Given the description of an element on the screen output the (x, y) to click on. 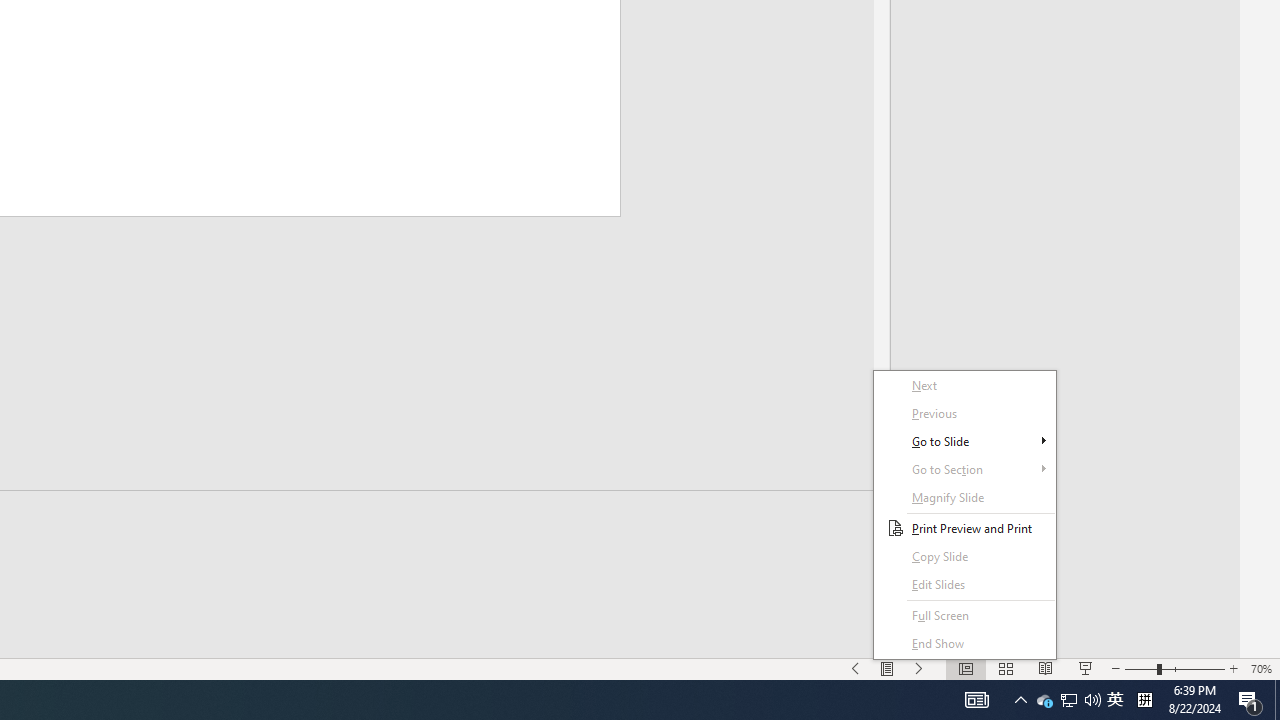
Full Screen (964, 615)
Edit Slides (1115, 699)
Magnify Slide (964, 584)
Previous (964, 497)
Go to Slide (964, 413)
Next (964, 441)
Copy Slide (964, 386)
Action Center, 1 new notification (964, 556)
Class: NetUITWMenuContainer (1250, 699)
Go to Section (964, 515)
